Given the description of an element on the screen output the (x, y) to click on. 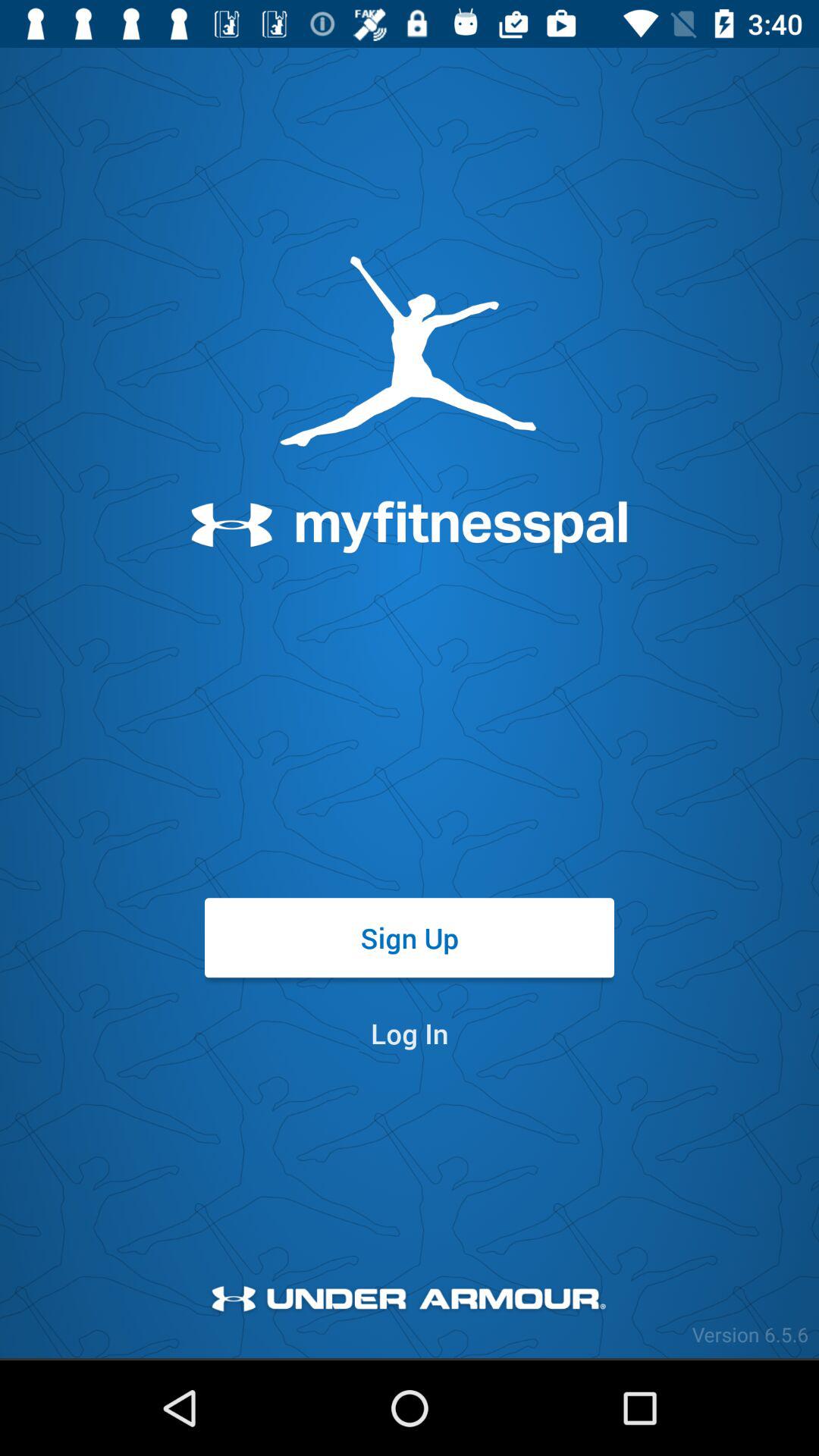
press the item above log in icon (409, 937)
